Given the description of an element on the screen output the (x, y) to click on. 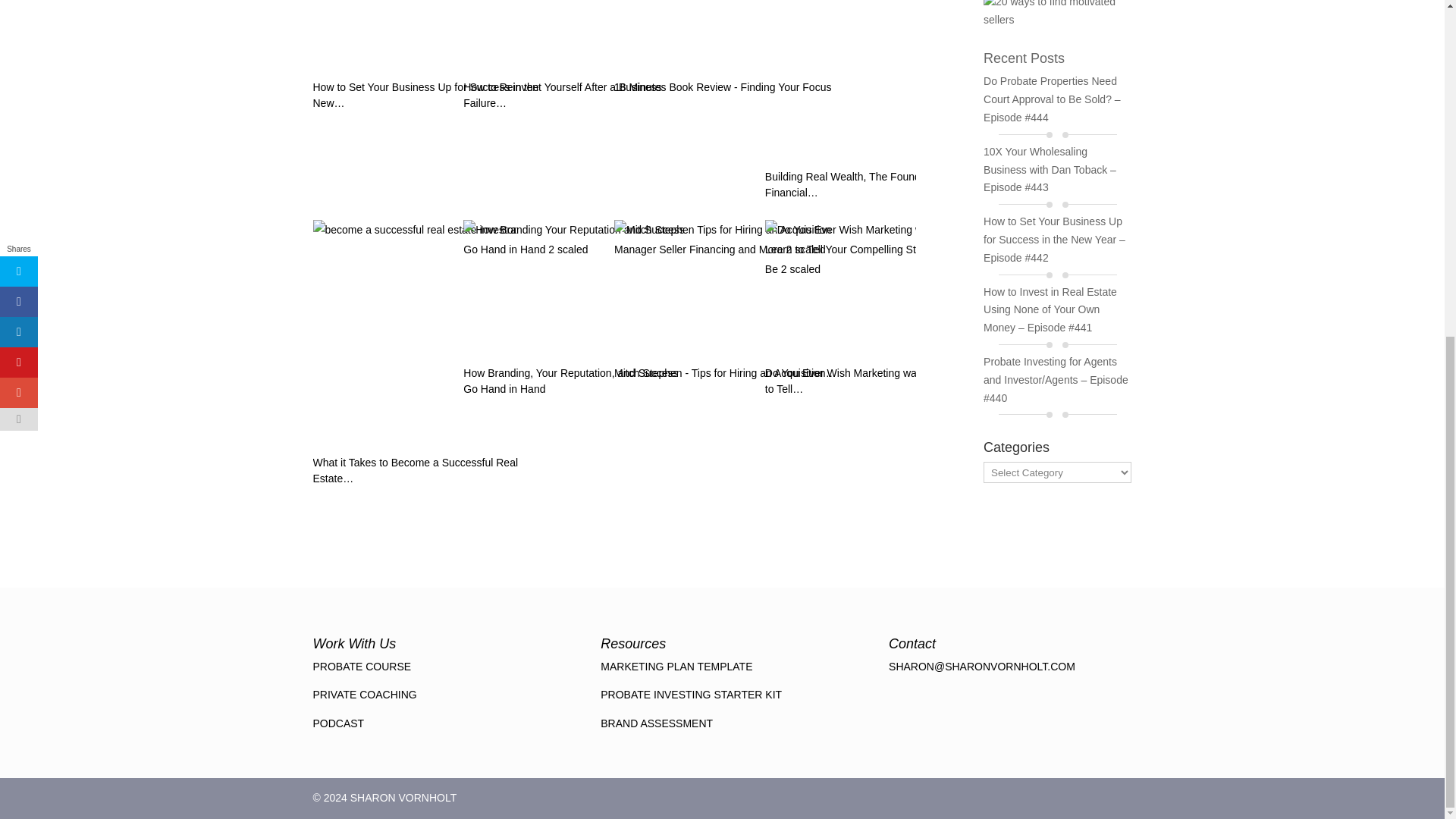
PROBATE INVESTING STARTER KIT (690, 694)
18 Minutes Book Review - Finding Your Focus (727, 36)
Recent Posts (1024, 58)
MARKETING PLAN TEMPLATE (675, 666)
PROBATE COURSE (361, 666)
How Branding, Your Reputation, and Success Go Hand in Hand (576, 288)
18 Minutes Book Review - Finding Your Focus (727, 100)
BRAND ASSESSMENT (656, 723)
PODCAST (338, 723)
